Given the description of an element on the screen output the (x, y) to click on. 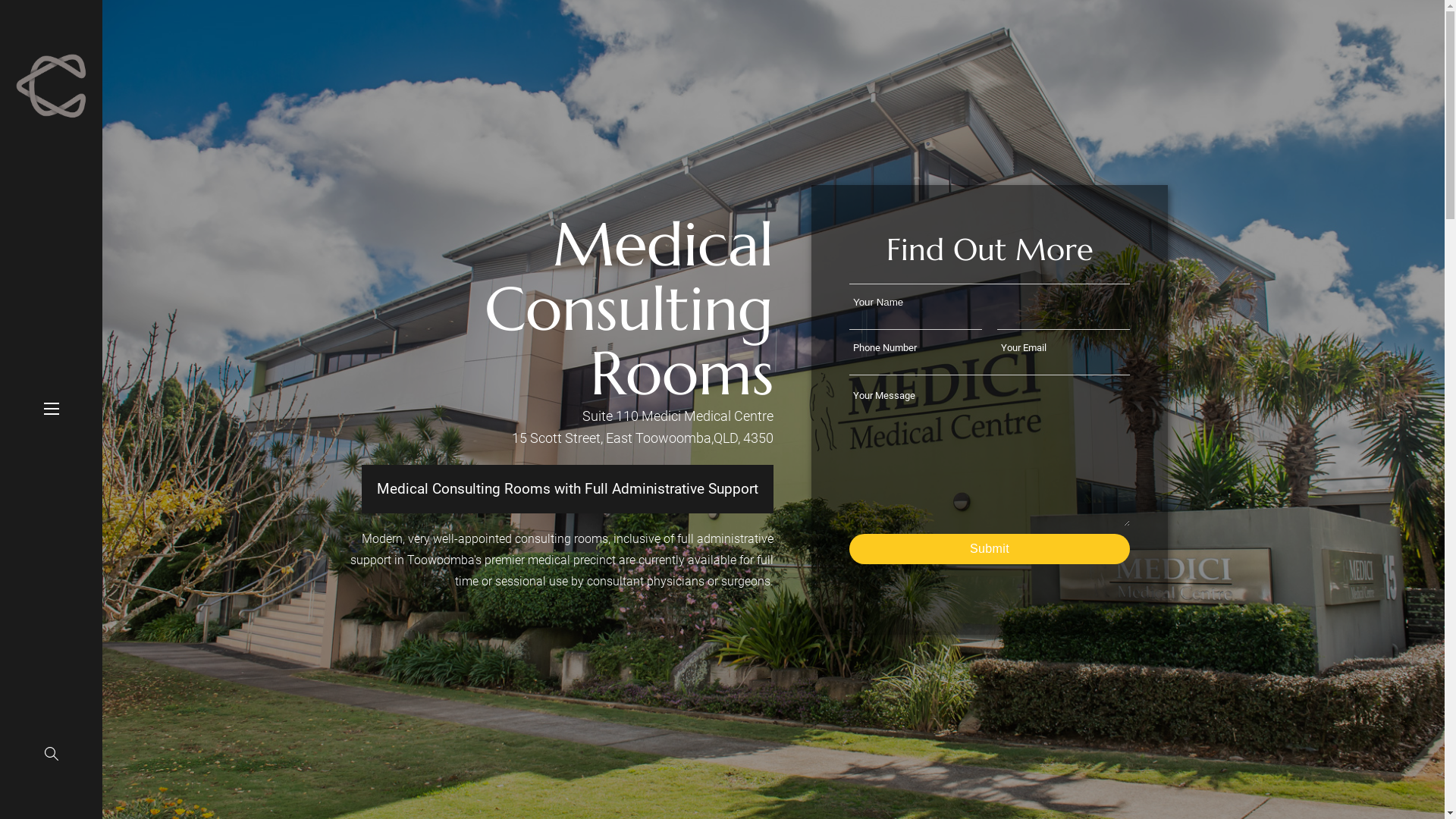
Submit Element type: text (989, 548)
